Given the description of an element on the screen output the (x, y) to click on. 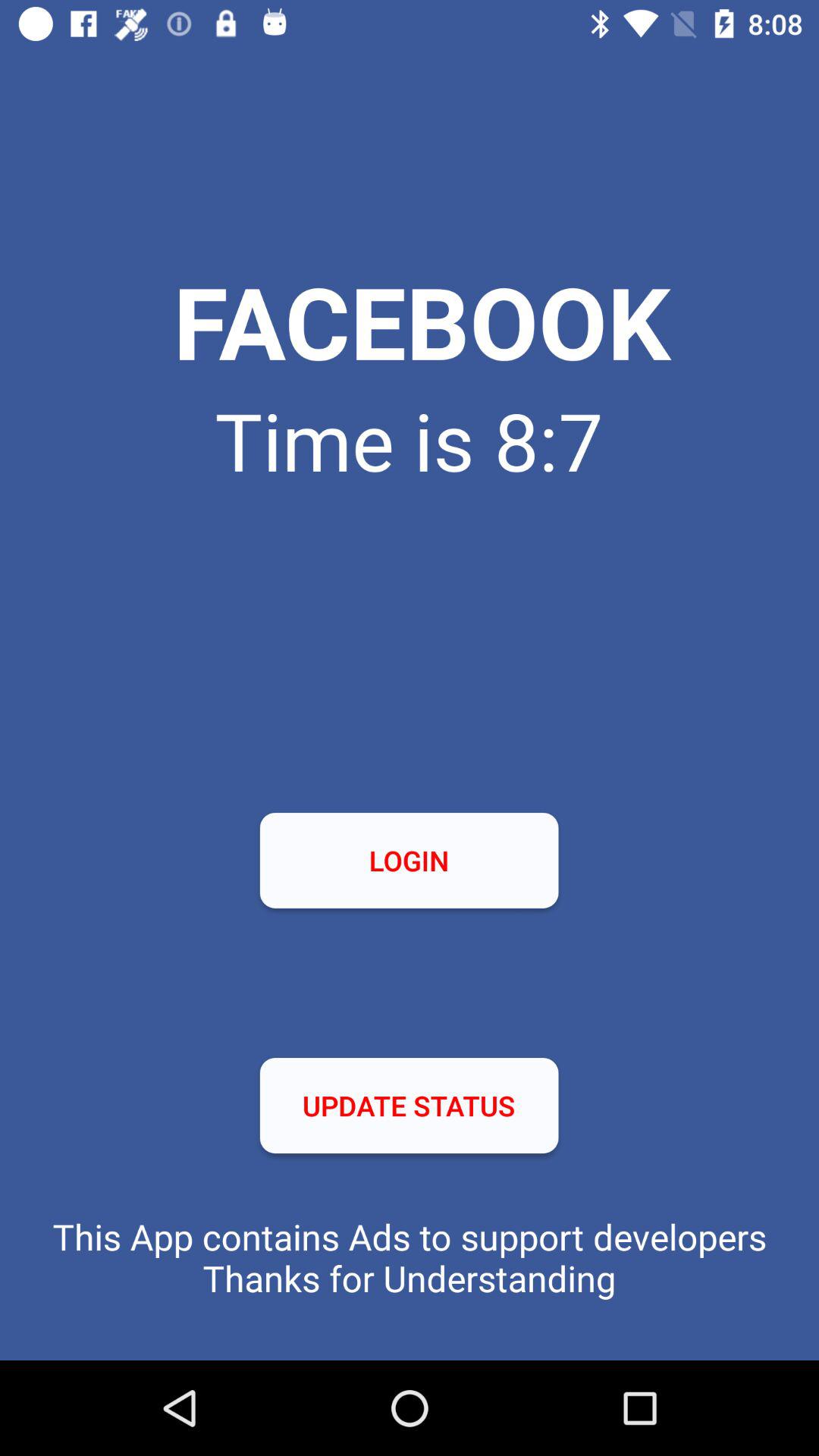
click the icon below time is 8 (408, 860)
